Given the description of an element on the screen output the (x, y) to click on. 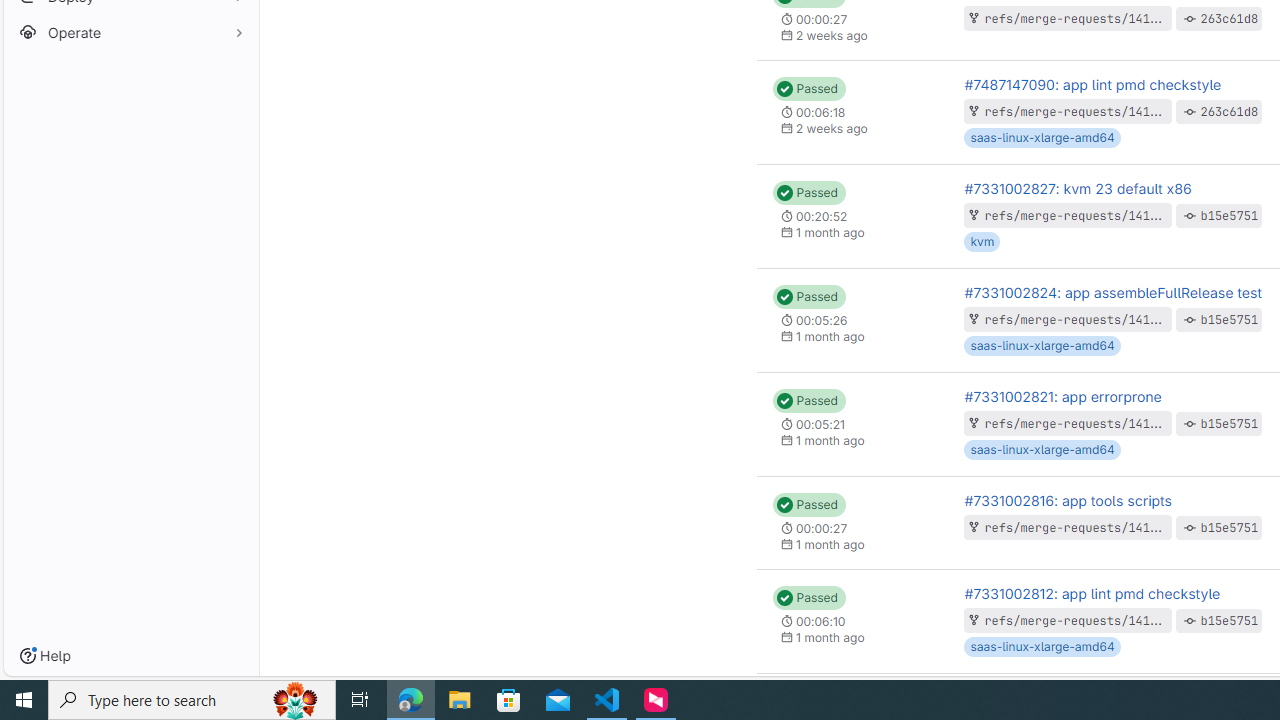
#7331002812: app lint pmd checkstyle (1092, 592)
Operate (130, 31)
Status: Passed 00:00:27 1 month ago (852, 522)
b15e5751 (1229, 620)
Status: Passed 00:05:26 1 month ago (852, 319)
Status: Passed 00:05:21 1 month ago (852, 424)
refs/merge-requests/1411/head (1089, 111)
#7331002827: kvm 23 default x86 (1077, 188)
Status: Passed 00:06:10 1 month ago (852, 620)
Help (45, 655)
#7487147090: app lint pmd checkstyle (1092, 84)
refs/merge-requests/1410/head (1089, 620)
#7331002816: app tools scripts (1067, 500)
#7331002824: app assembleFullRelease test (1112, 291)
Status: Passed 00:06:18 2 weeks ago (852, 111)
